Given the description of an element on the screen output the (x, y) to click on. 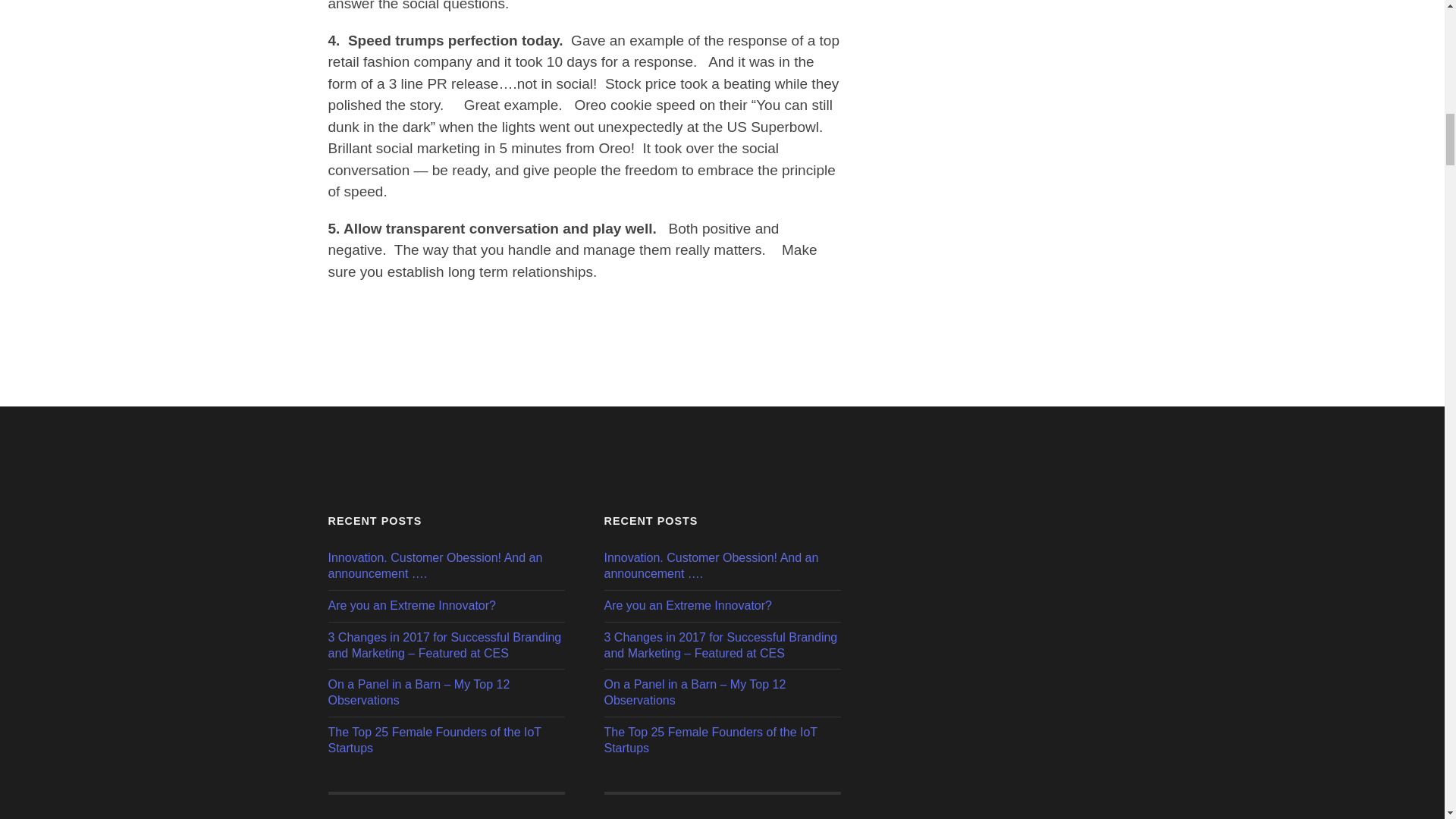
Are you an Extreme Innovator? (445, 606)
The Top 25 Female Founders of the IoT Startups (445, 740)
